Given the description of an element on the screen output the (x, y) to click on. 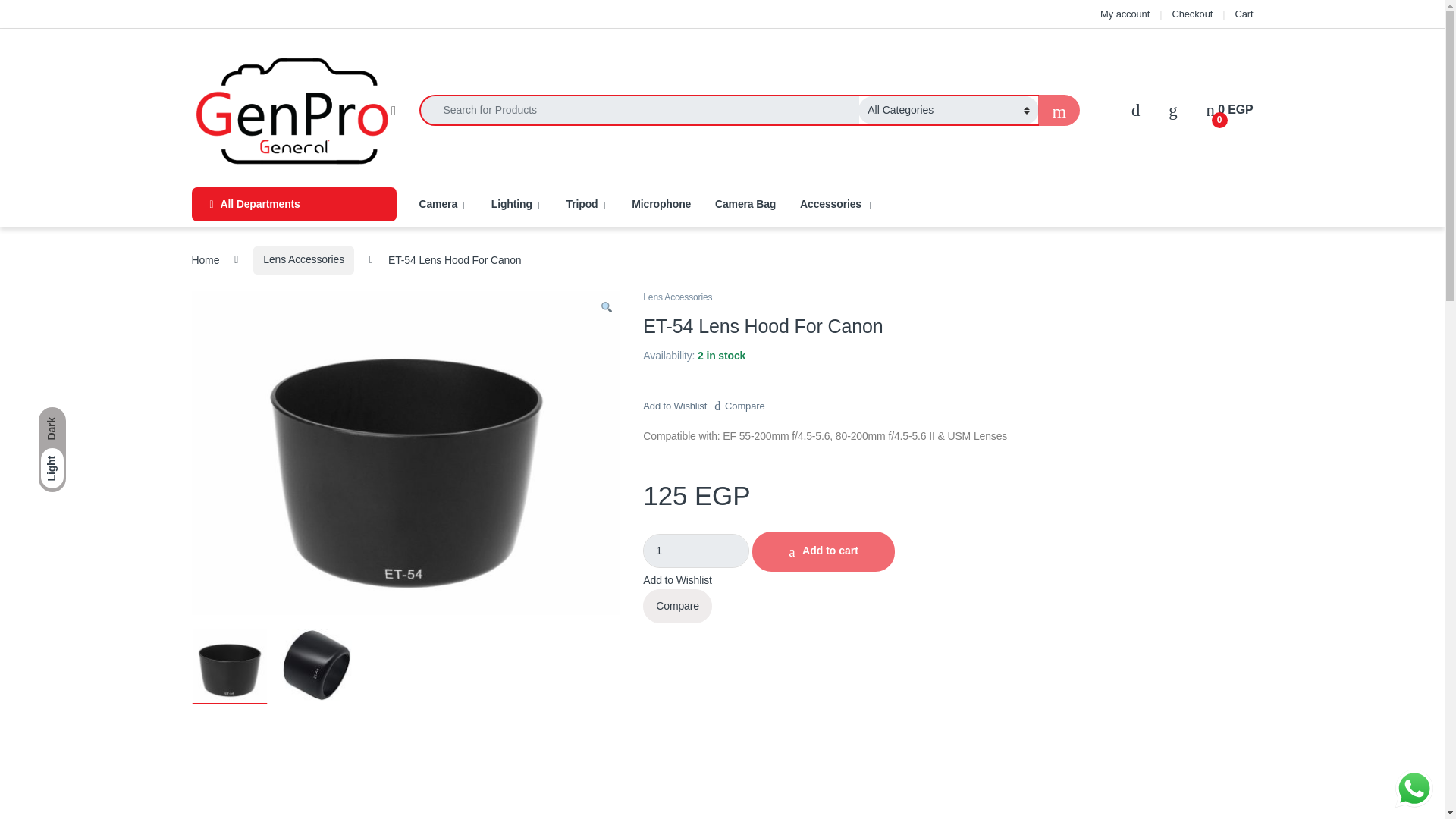
My account (1125, 13)
1 (696, 550)
Checkout (1192, 13)
Checkout (1230, 110)
All Departments (1192, 13)
My account (293, 204)
